Given the description of an element on the screen output the (x, y) to click on. 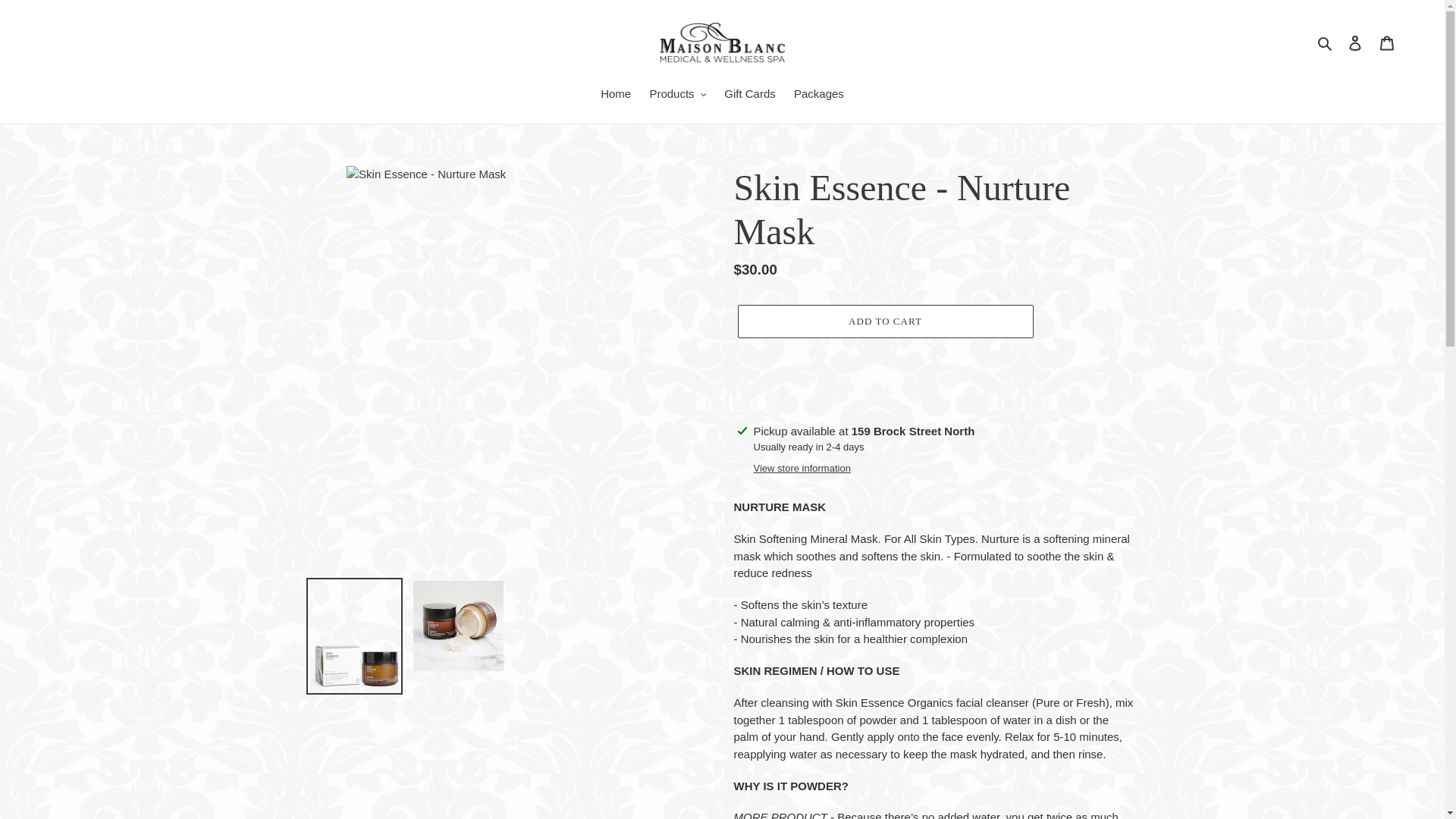
Gift Cards (749, 95)
Search (1326, 42)
Packages (818, 95)
Home (615, 95)
Log in (1355, 42)
Cart (1387, 42)
Products (677, 95)
